Given the description of an element on the screen output the (x, y) to click on. 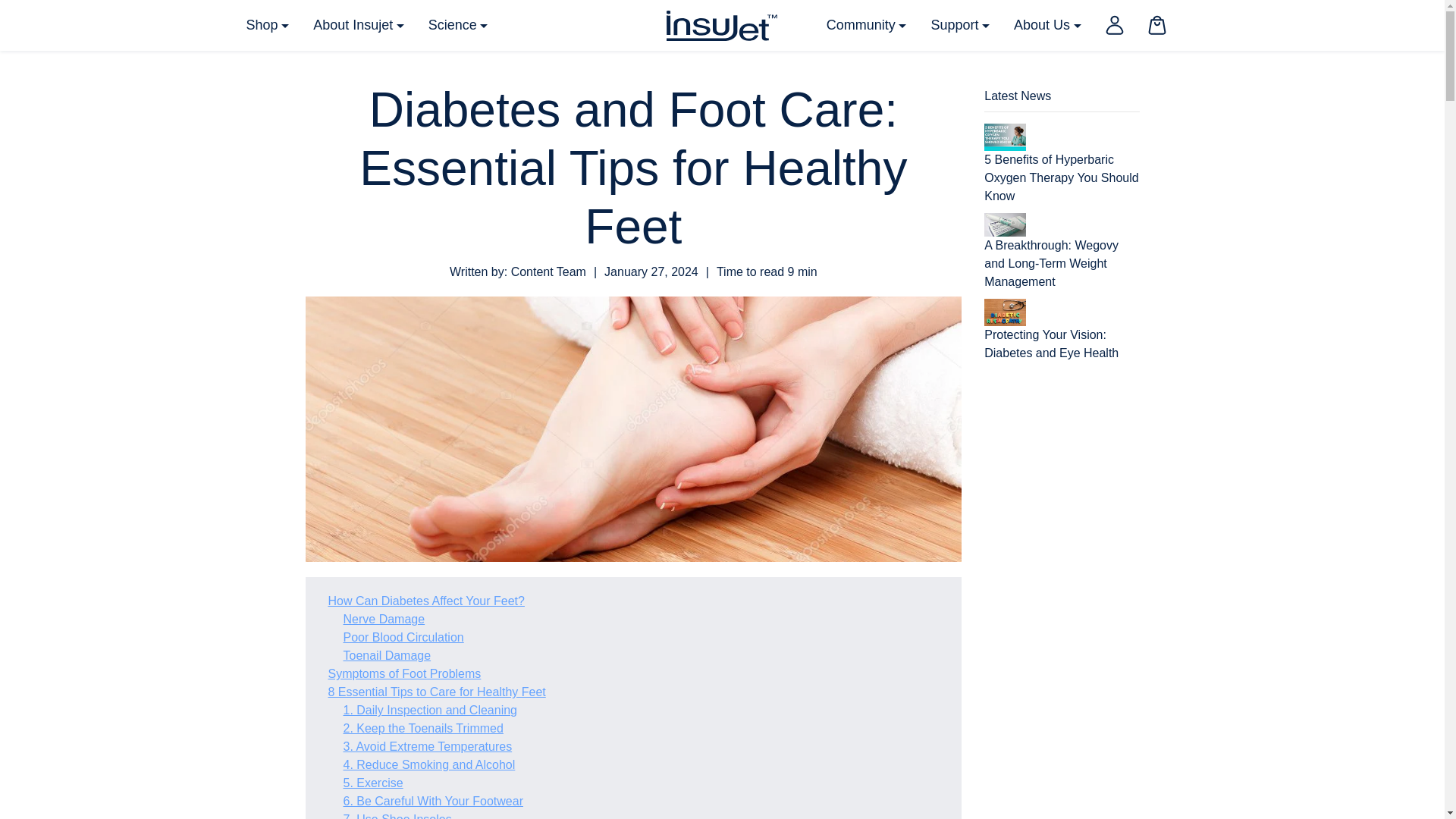
About Insujet (358, 25)
Shop (266, 25)
About Us (1047, 25)
Support (959, 25)
Science (458, 25)
Community (865, 25)
